Given the description of an element on the screen output the (x, y) to click on. 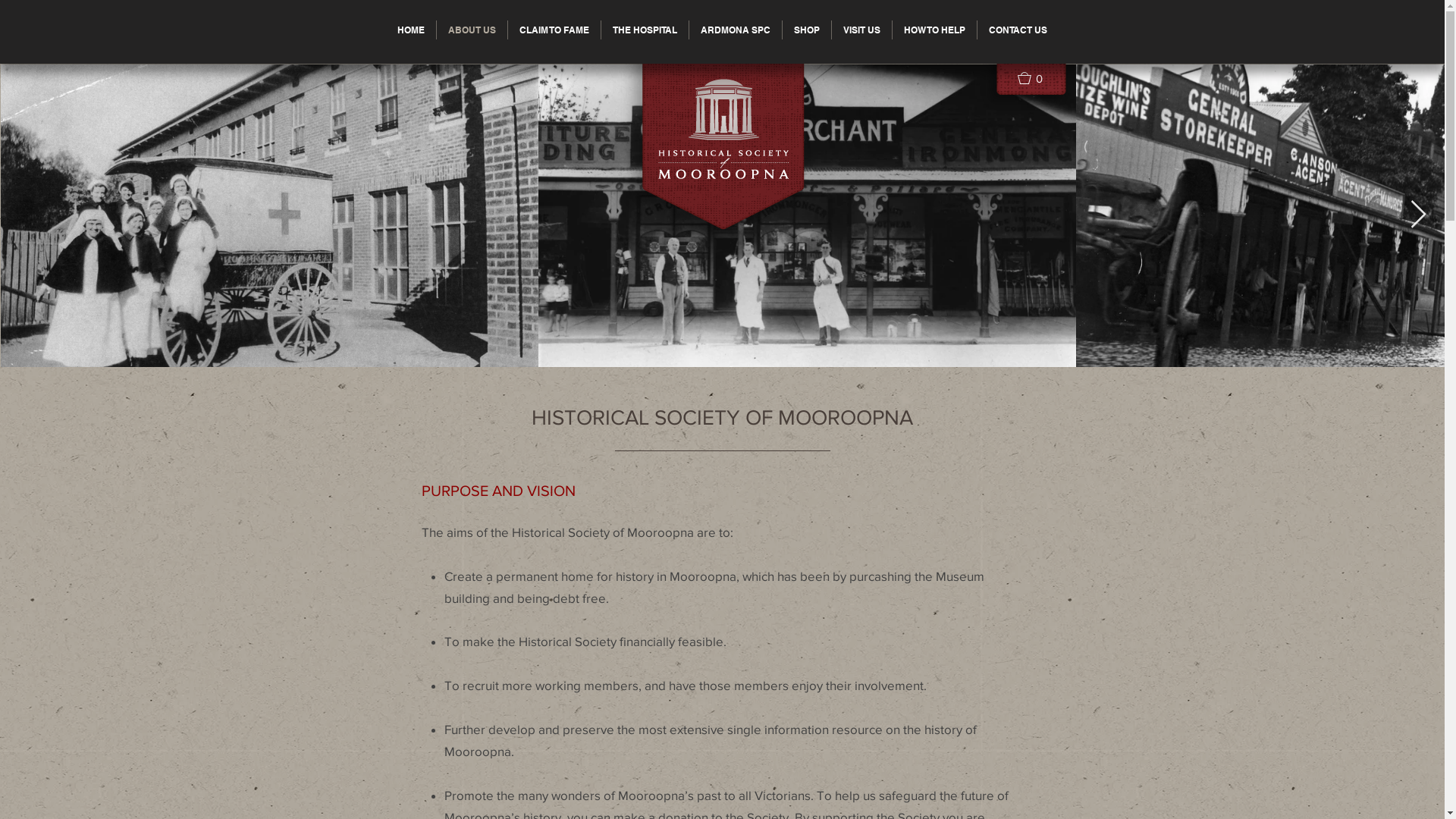
THE HOSPITAL Element type: text (644, 29)
ARDMONA SPC Element type: text (735, 29)
VISIT US Element type: text (861, 29)
SHOP Element type: text (806, 29)
ABOUT US Element type: text (471, 29)
HOME Element type: text (410, 29)
HOW TO HELP Element type: text (934, 29)
CONTACT US Element type: text (1017, 29)
CLAIM TO FAME Element type: text (554, 29)
